Given the description of an element on the screen output the (x, y) to click on. 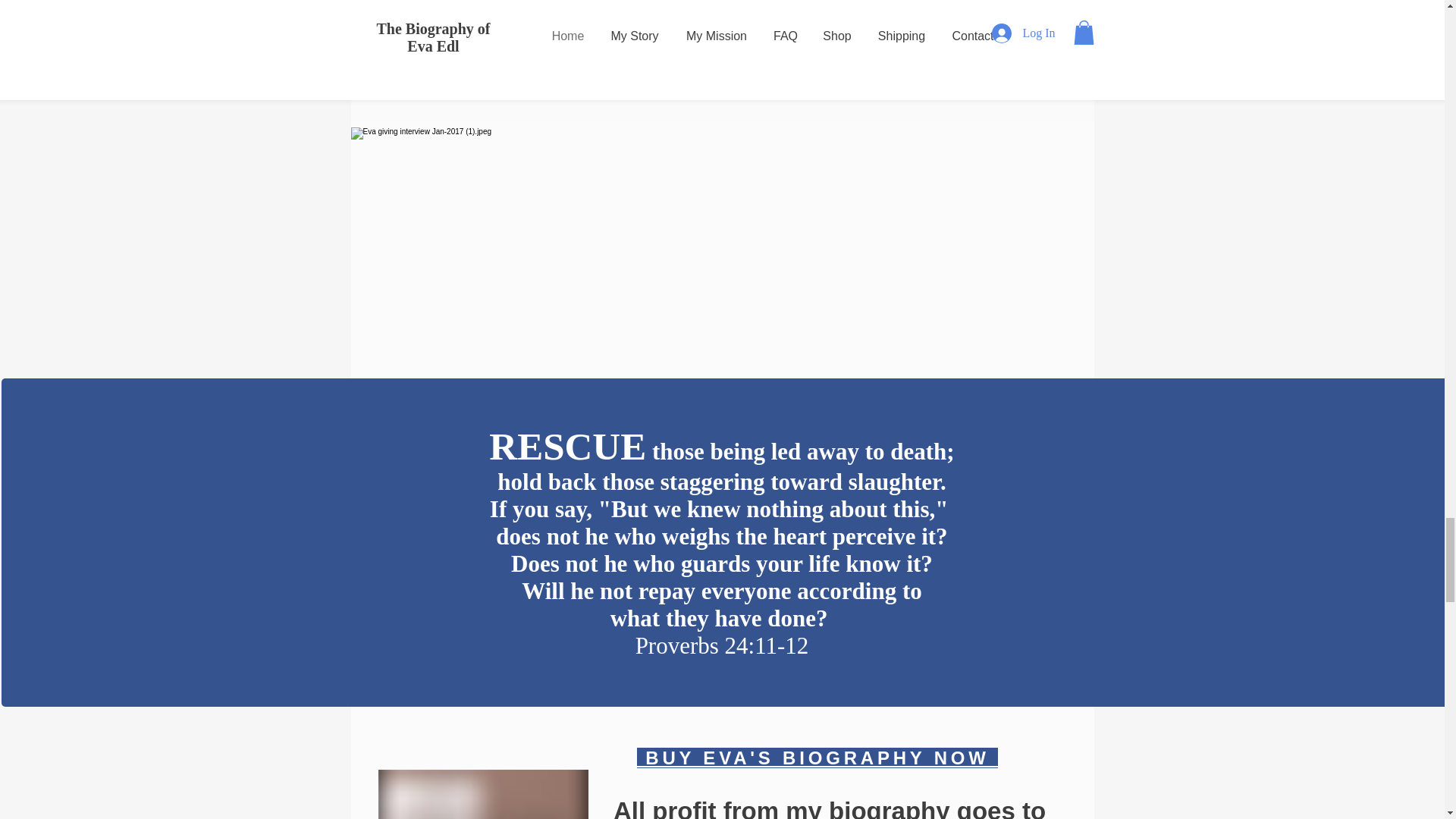
 BUY EVA'S BIOGRAPHY NOW  (817, 757)
here (941, 51)
